Given the description of an element on the screen output the (x, y) to click on. 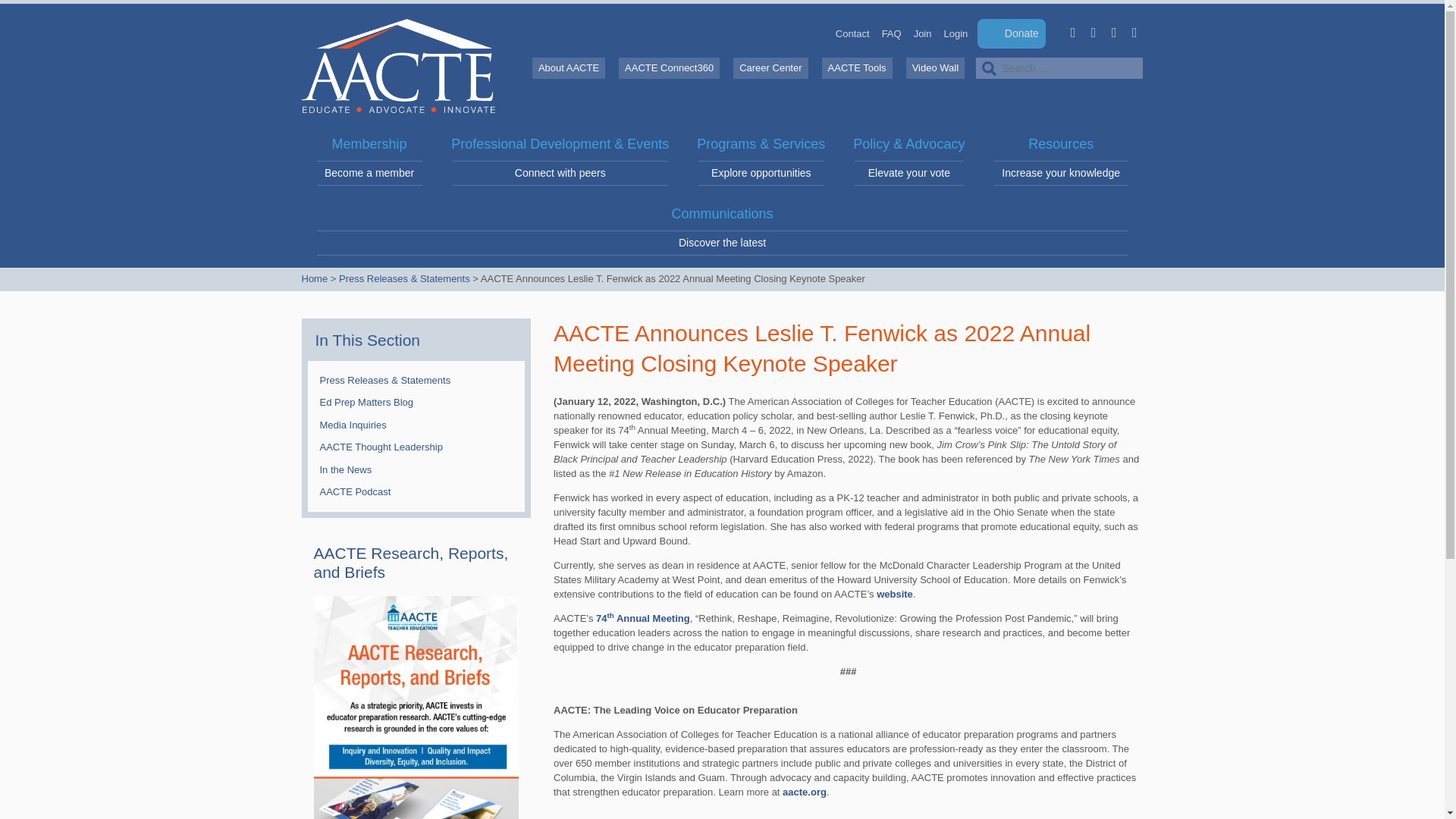
Like us on Facebook (1072, 32)
Donate (1010, 33)
Login (955, 34)
Career Center (369, 162)
AACTE Connect360 (770, 67)
Follow us on LinkedIn (668, 67)
About AACTE (1093, 32)
Follow us on Instagram (568, 67)
AACTE Tools (1113, 32)
Watch our videos on Vimeo (857, 67)
Video Wall (1133, 32)
Join (935, 67)
FAQ (922, 34)
Contact (891, 34)
